Given the description of an element on the screen output the (x, y) to click on. 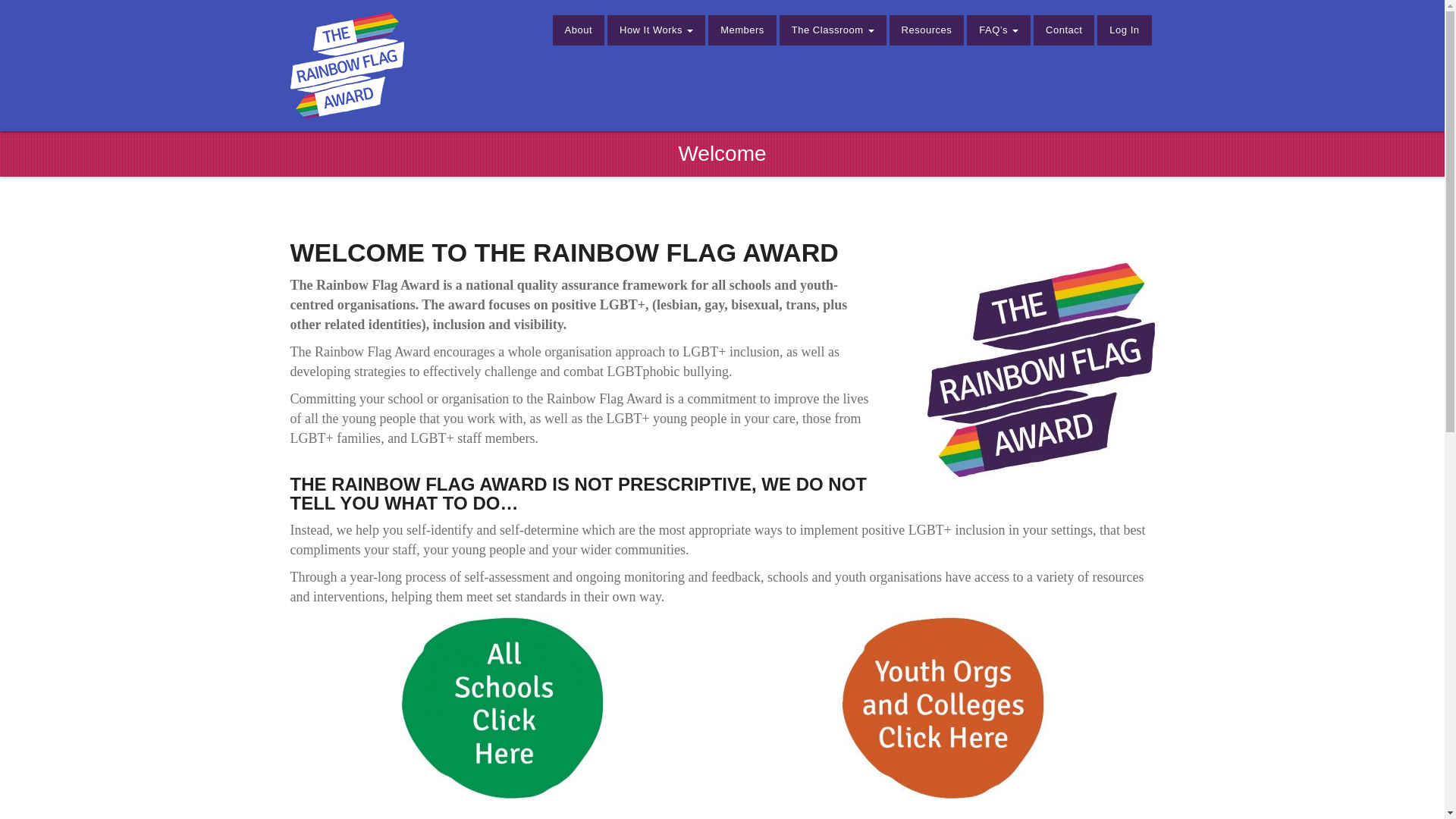
Members (741, 30)
Resources (926, 30)
About (578, 30)
Log In (1124, 30)
How It Works (655, 30)
The Classroom (832, 30)
Resources (926, 30)
How It Works (655, 30)
Members (741, 30)
About (578, 30)
The Classroom (832, 30)
Log In (1124, 30)
Contact (1063, 30)
Contact (1063, 30)
